Given the description of an element on the screen output the (x, y) to click on. 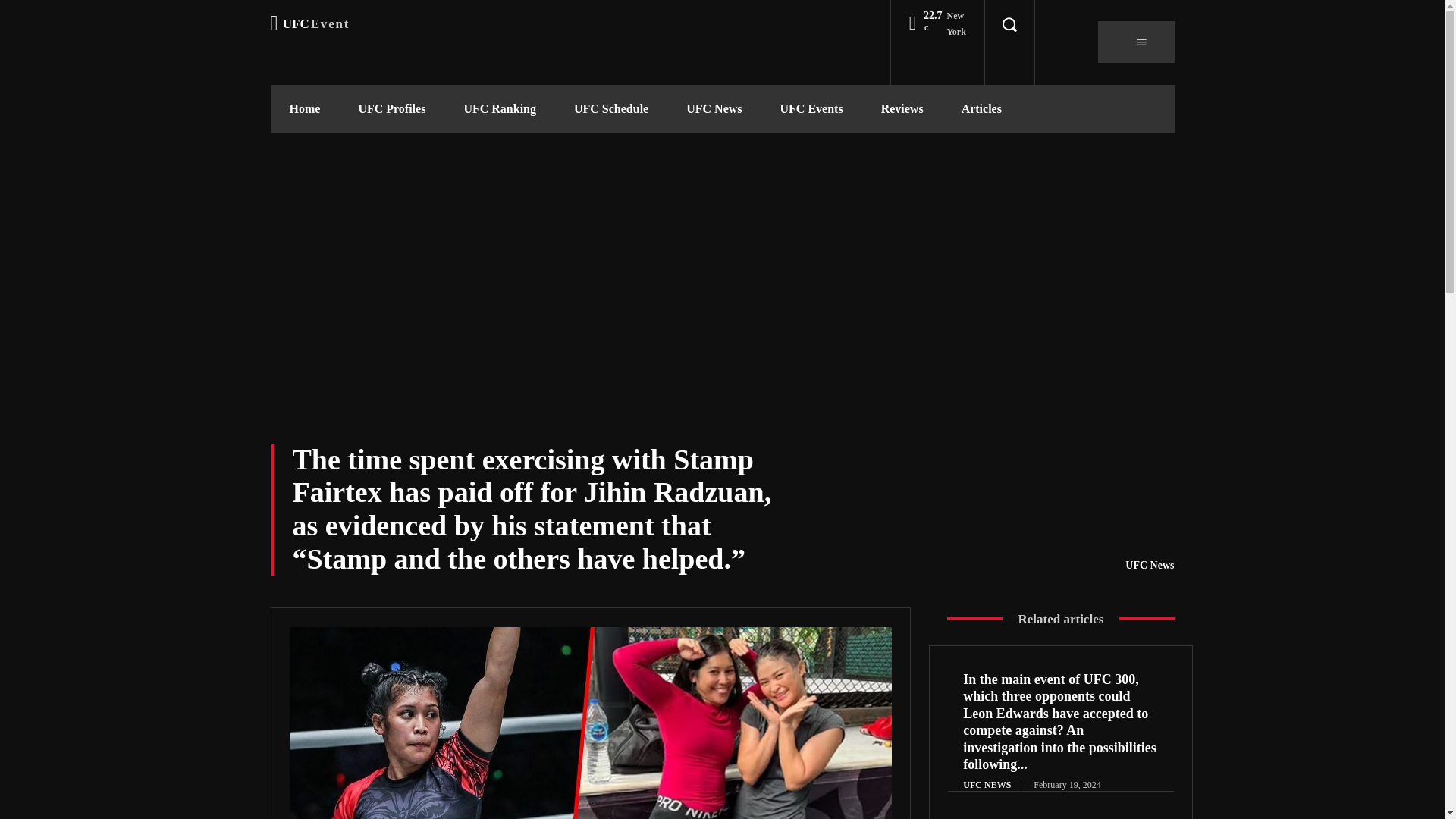
UFC Events (811, 109)
Home (304, 109)
UFC Profiles (391, 109)
UFC Ranking (499, 109)
Articles (981, 109)
Reviews (901, 109)
a7d0e-16925244417685-1920 (590, 723)
UFC News (309, 24)
UFC News (1149, 565)
UFC Schedule (713, 109)
